Given the description of an element on the screen output the (x, y) to click on. 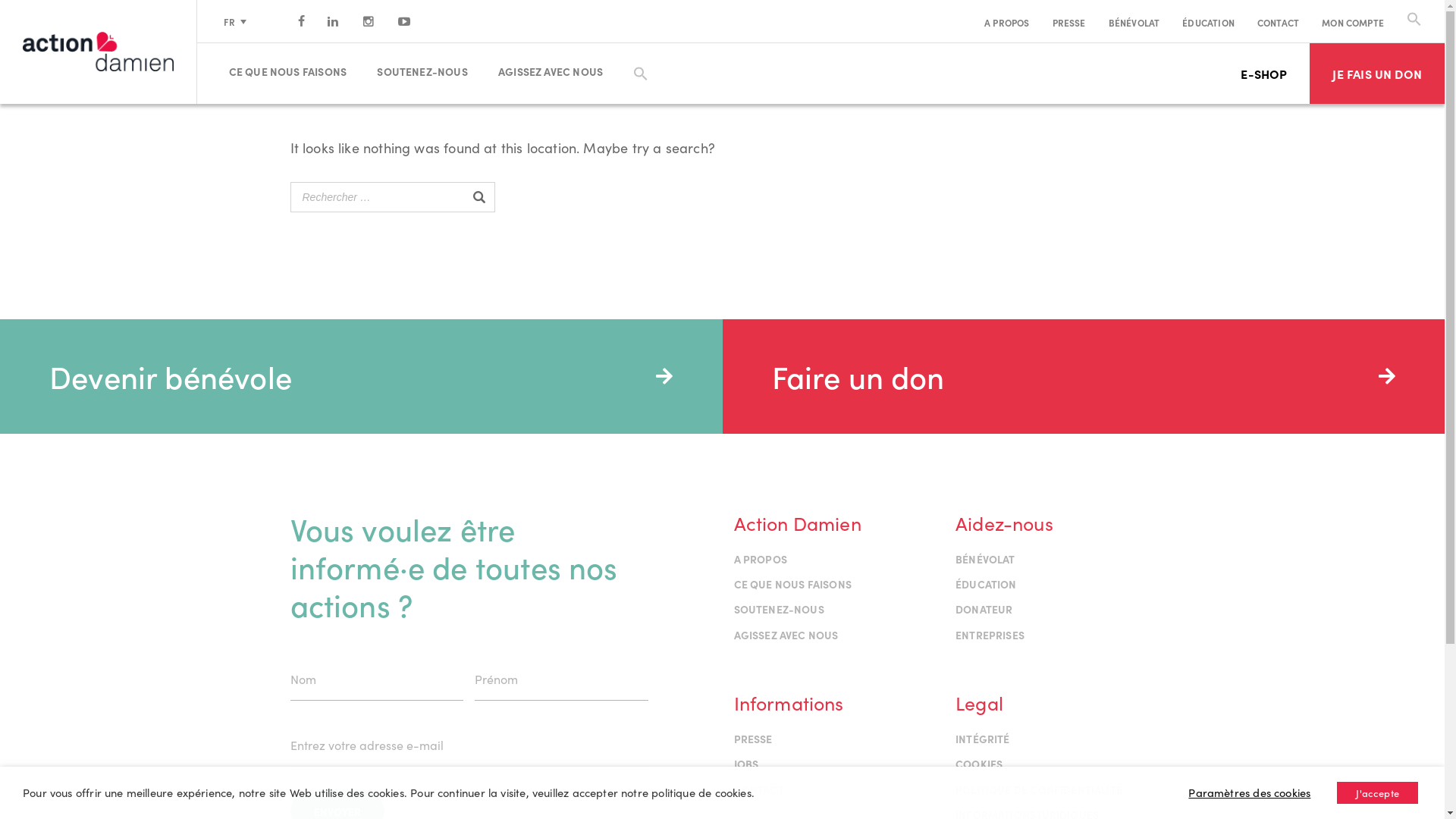
CE QUE NOUS FAISONS Element type: text (792, 583)
MON COMPTE Element type: text (1352, 21)
DONATEUR Element type: text (983, 608)
ENTREPRISES Element type: text (989, 634)
PRESSE Element type: text (753, 738)
CE QUE NOUS FAISONS Element type: text (293, 71)
PRESSE Element type: text (1069, 21)
A PROPOS Element type: text (760, 558)
SOUTENEZ-NOUS Element type: text (779, 608)
A PROPOS Element type: text (1006, 21)
JE FAIS UN DON Element type: text (1376, 73)
E-SHOP Element type: text (1263, 73)
SOUTENEZ-NOUS Element type: text (428, 71)
AGISSEZ AVEC NOUS Element type: text (786, 634)
AGISSEZ AVEC NOUS Element type: text (556, 71)
JOBS Element type: text (746, 763)
Faire un don Element type: text (1082, 376)
FR Element type: text (235, 21)
COOKIES Element type: text (978, 763)
CONTACT Element type: text (1277, 21)
CONTACT Element type: text (759, 789)
J'accepte Element type: text (1377, 792)
